Given the description of an element on the screen output the (x, y) to click on. 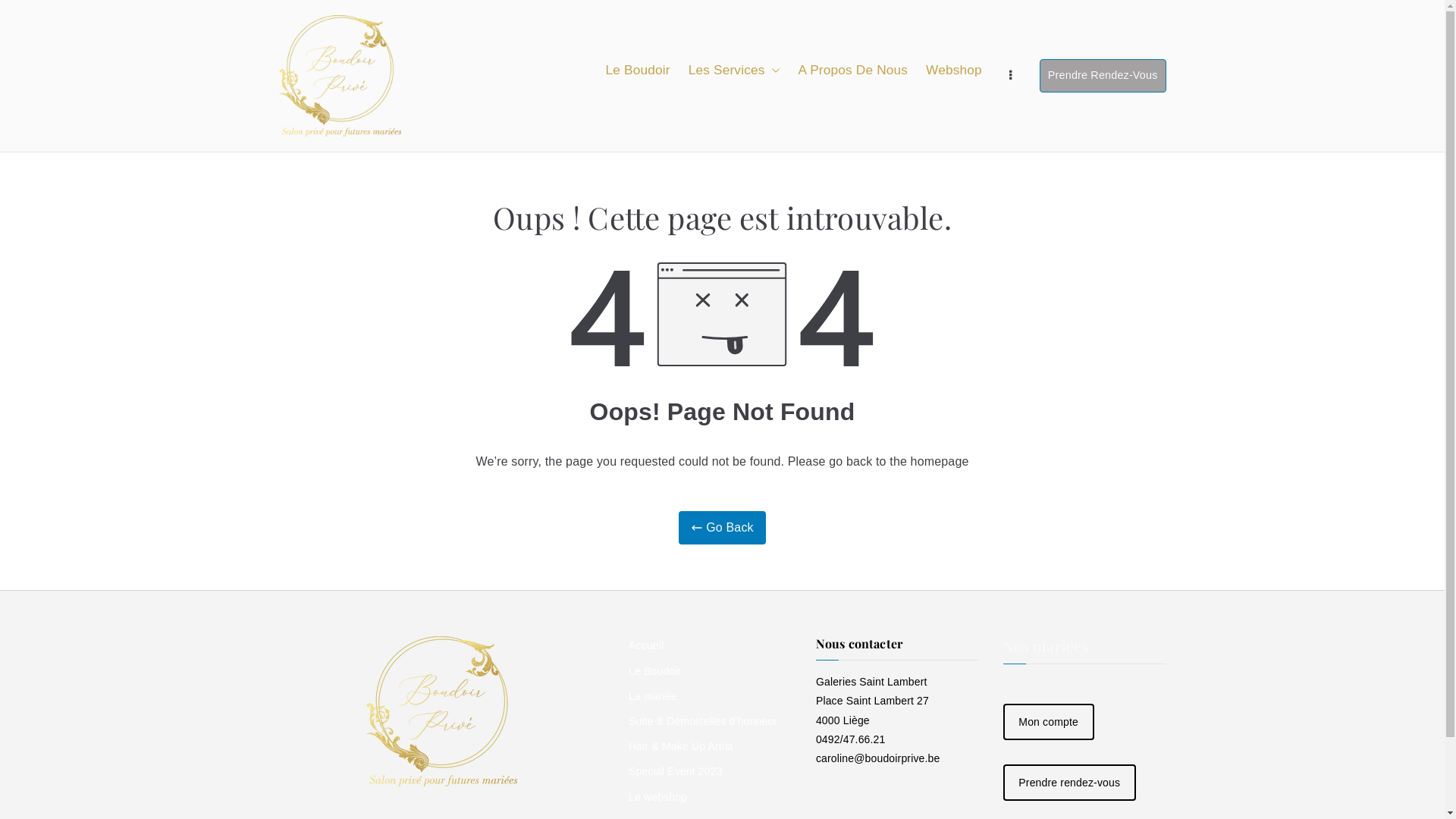
Go Back Element type: text (721, 528)
Hair & Make Up Artist Element type: text (709, 746)
caroline@boudoirprive.be Element type: text (877, 758)
Le webshop Element type: text (709, 796)
Webshop Element type: text (953, 69)
Special Event 2023 Element type: text (709, 771)
Accueil Element type: text (709, 645)
Le Boudoir Element type: text (637, 69)
0492/47.66.21 Element type: text (850, 739)
Mon compte Element type: text (1048, 721)
Prendre Rendez-Vous Element type: text (1102, 75)
Les Services Element type: text (734, 69)
A Propos De Nous Element type: text (852, 69)
Le Boudoir Element type: text (709, 671)
Prendre rendez-vous Element type: text (1069, 782)
